Given the description of an element on the screen output the (x, y) to click on. 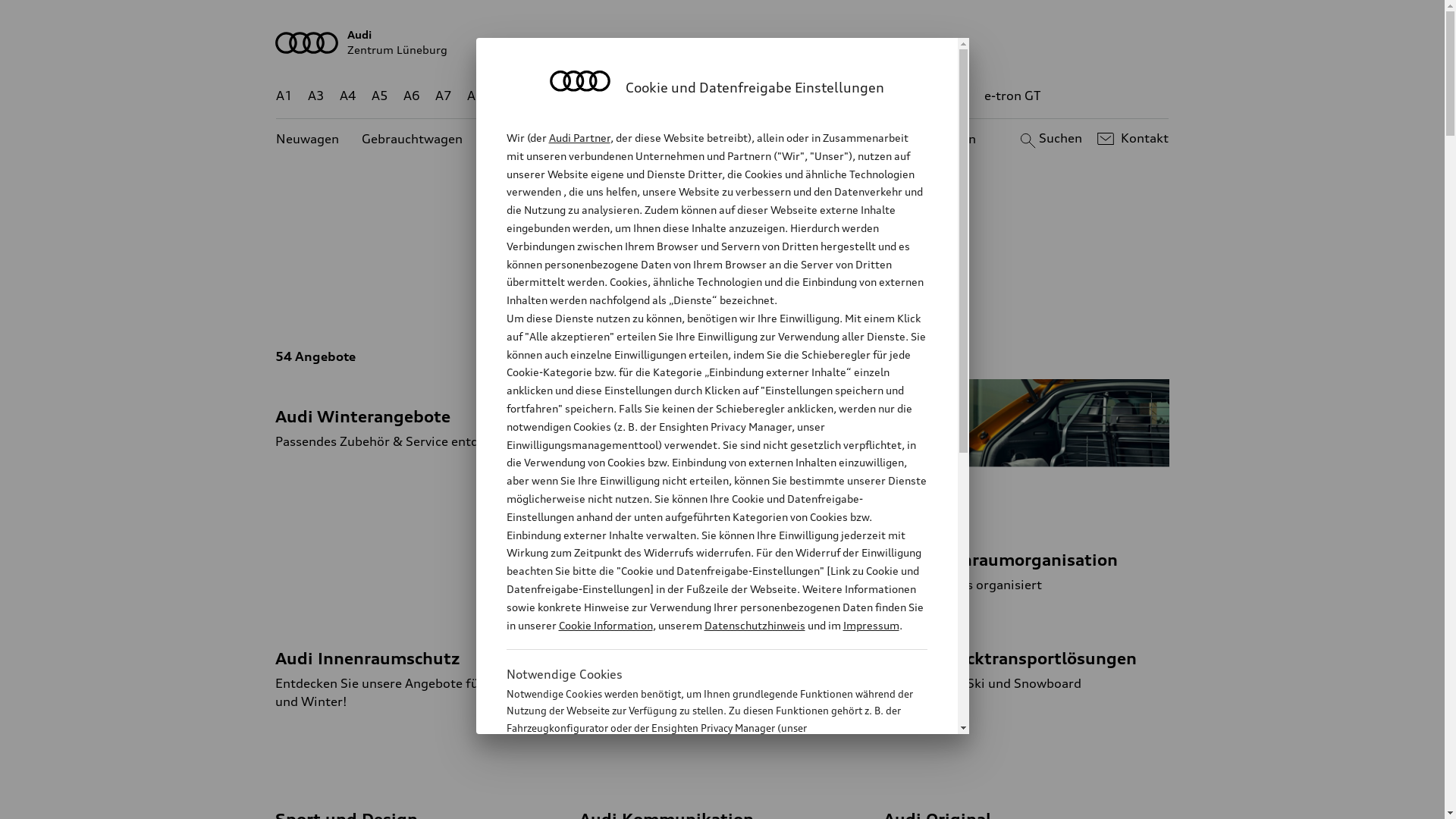
Fahrzeuge Element type: text (703, 293)
R8 Element type: text (861, 95)
Audi Innenraumorganisation
Immer bestens organisiert Element type: text (1026, 486)
Kundenservice Element type: text (730, 139)
Gebrauchtwagen Element type: text (411, 139)
Q7 Element type: text (678, 95)
e-tron GT Element type: text (1012, 95)
A4 Element type: text (347, 95)
Q3 Element type: text (540, 95)
Service Element type: text (860, 293)
A5 Element type: text (379, 95)
A7 Element type: text (443, 95)
Q8 e-tron Element type: text (763, 95)
Alle Angebote Element type: text (604, 293)
Angebote Element type: text (636, 139)
Q4 e-tron Element type: text (592, 95)
A3 Element type: text (315, 95)
Audi Partner Element type: text (579, 137)
A6 Element type: text (411, 95)
Q5 Element type: text (645, 95)
Cookie Information Element type: text (605, 624)
A8 Element type: text (475, 95)
Cookie Information Element type: text (700, 802)
Q8 Element type: text (710, 95)
Impressum Element type: text (871, 624)
Suchen Element type: text (1049, 138)
A1 Element type: text (284, 95)
Q2 Element type: text (507, 95)
Neuwagen Element type: text (307, 139)
RS Element type: text (908, 95)
Kontakt Element type: text (1130, 138)
Datenschutzhinweis Element type: text (753, 624)
TT Element type: text (814, 95)
g-tron Element type: text (950, 95)
